Given the description of an element on the screen output the (x, y) to click on. 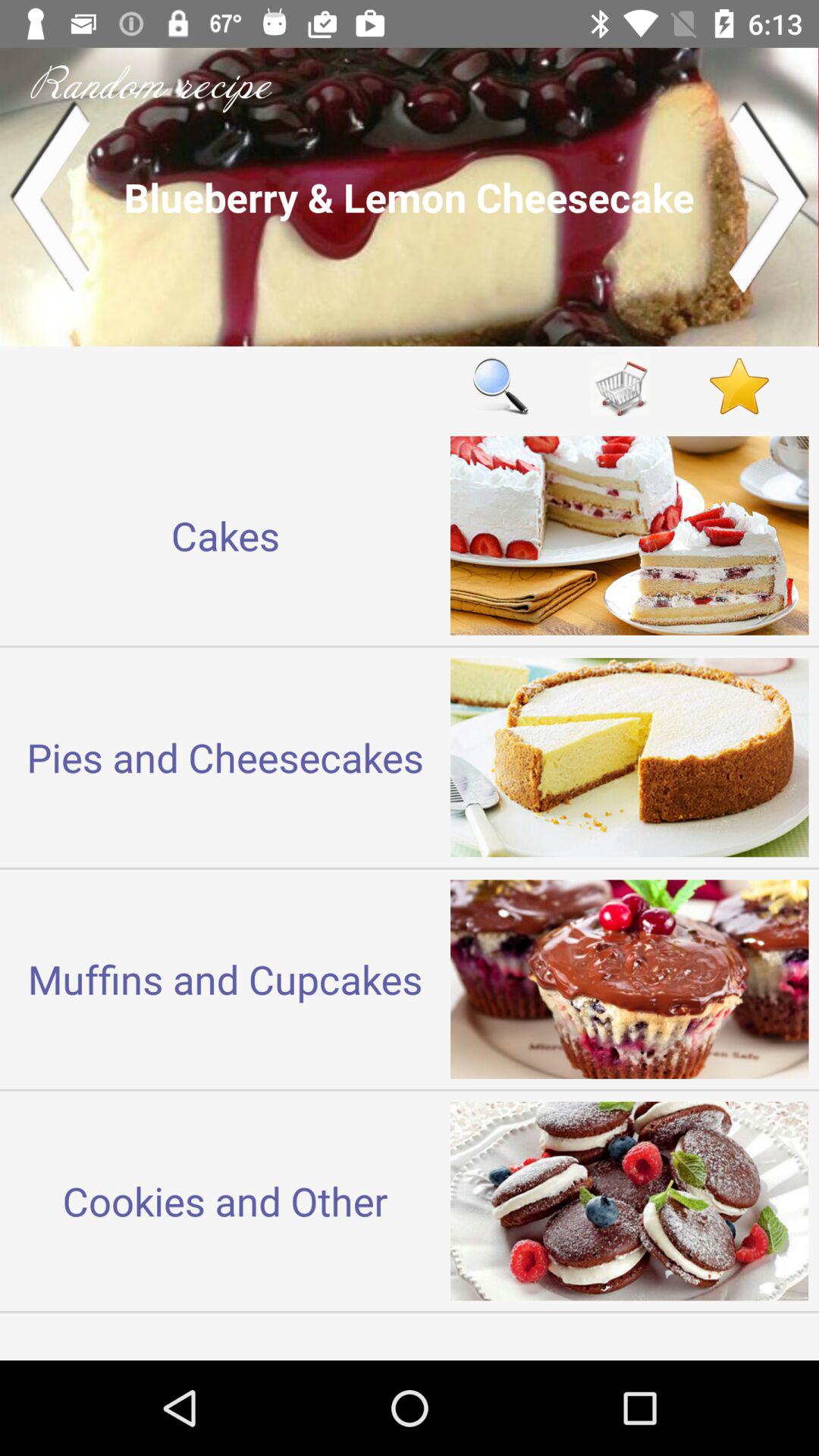
select item next to cakes item (500, 385)
